Given the description of an element on the screen output the (x, y) to click on. 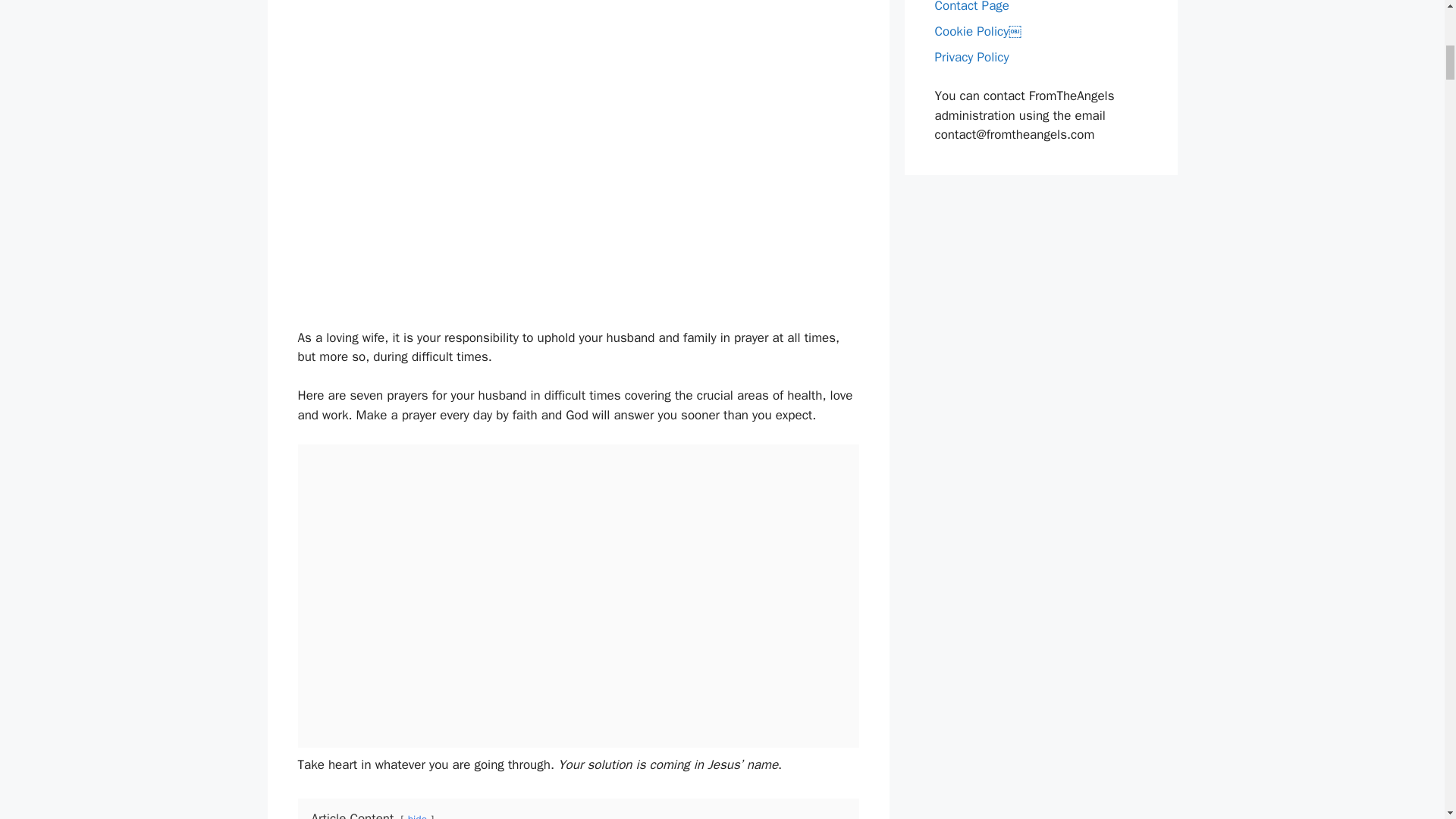
Contact Page (971, 6)
Privacy Policy (971, 57)
hide (416, 816)
